Given the description of an element on the screen output the (x, y) to click on. 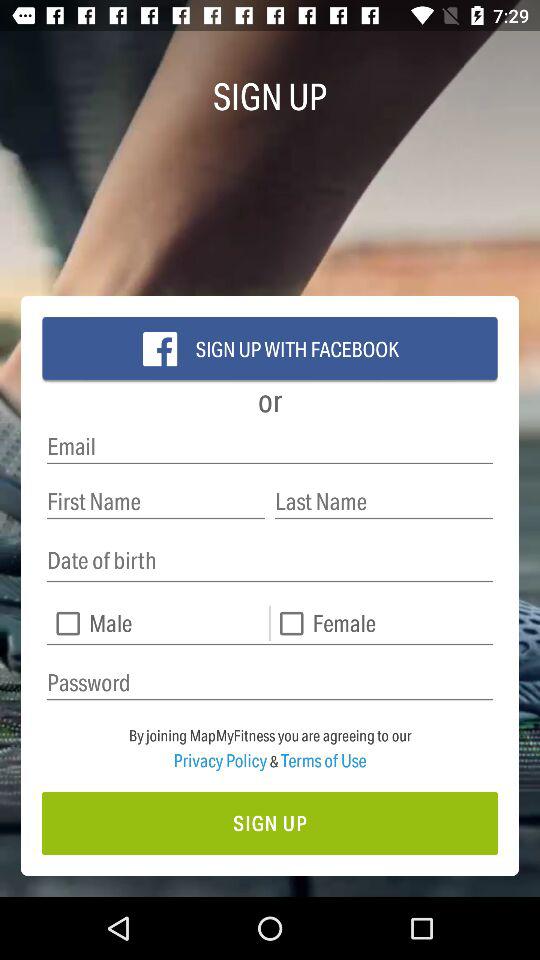
enter date of birth here (270, 560)
